Given the description of an element on the screen output the (x, y) to click on. 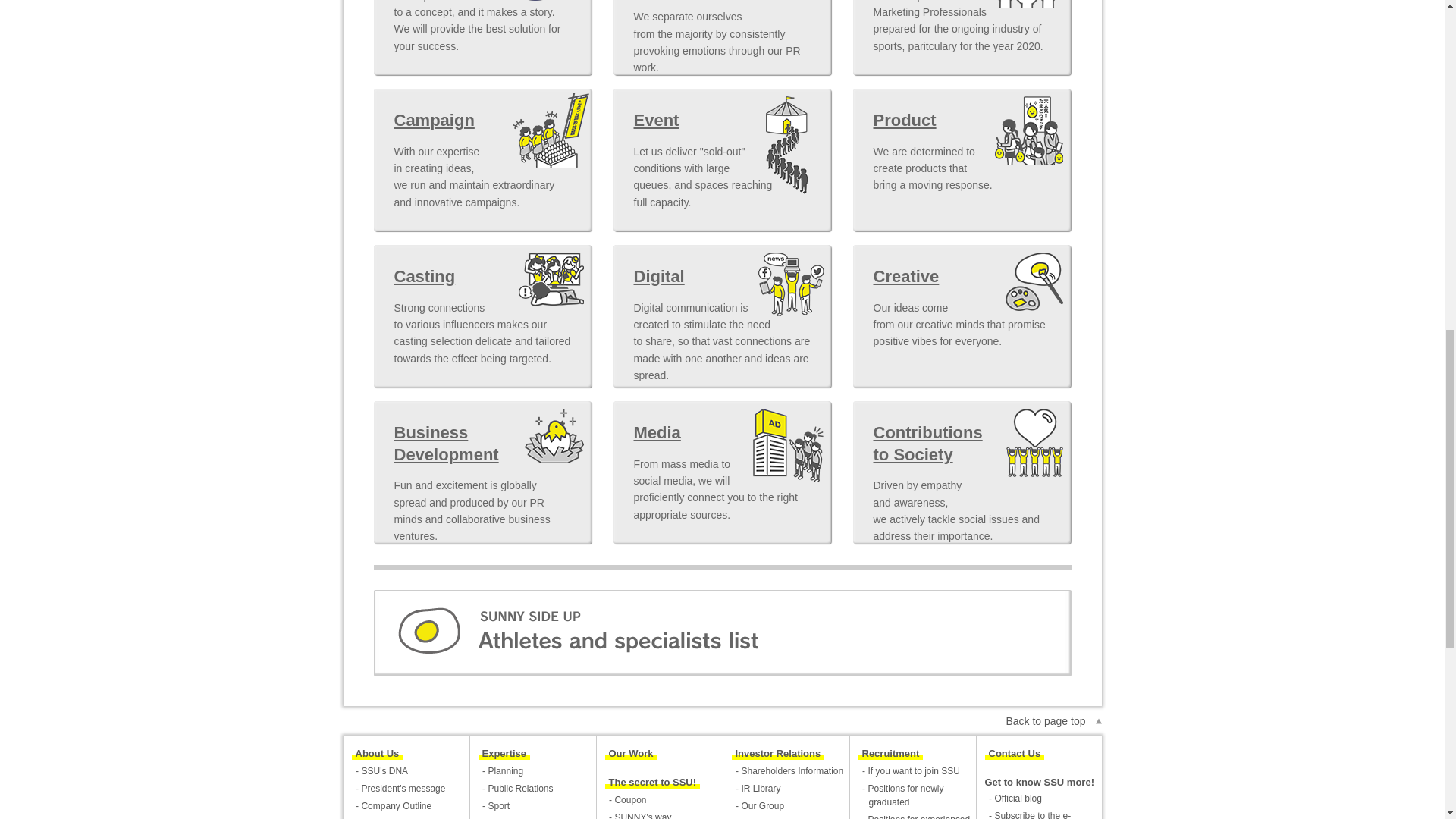
Casting (435, 277)
Campaign (445, 120)
Product (915, 120)
Event (666, 120)
Digital (669, 277)
